Given the description of an element on the screen output the (x, y) to click on. 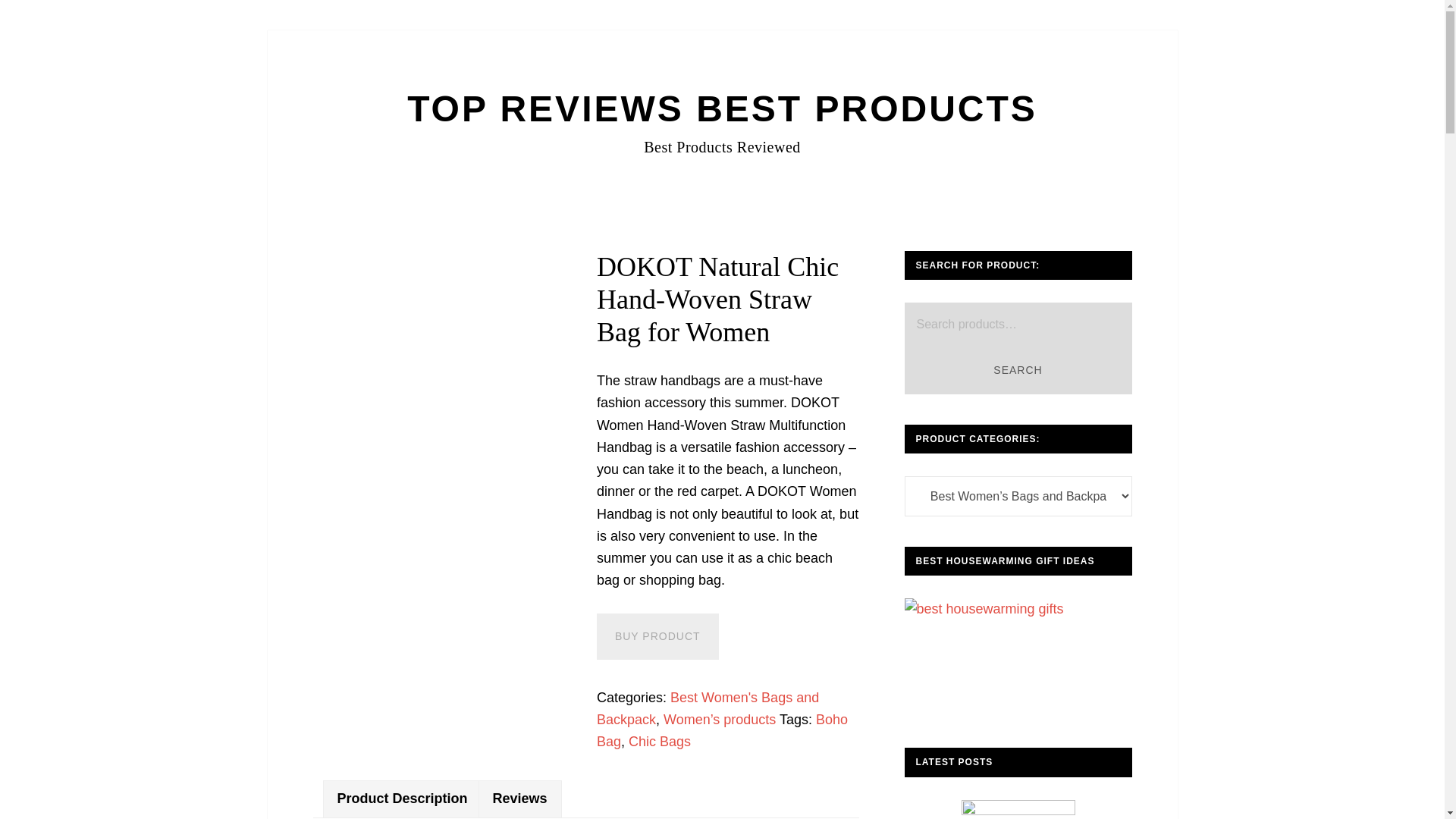
TOP REVIEWS BEST PRODUCTS (721, 108)
Reviews (519, 798)
SEARCH (1017, 369)
Product Description (401, 798)
Best Women's Bags and Backpack (707, 708)
BUY PRODUCT (657, 636)
Boho Bag (721, 730)
Chic Bags (659, 741)
